Given the description of an element on the screen output the (x, y) to click on. 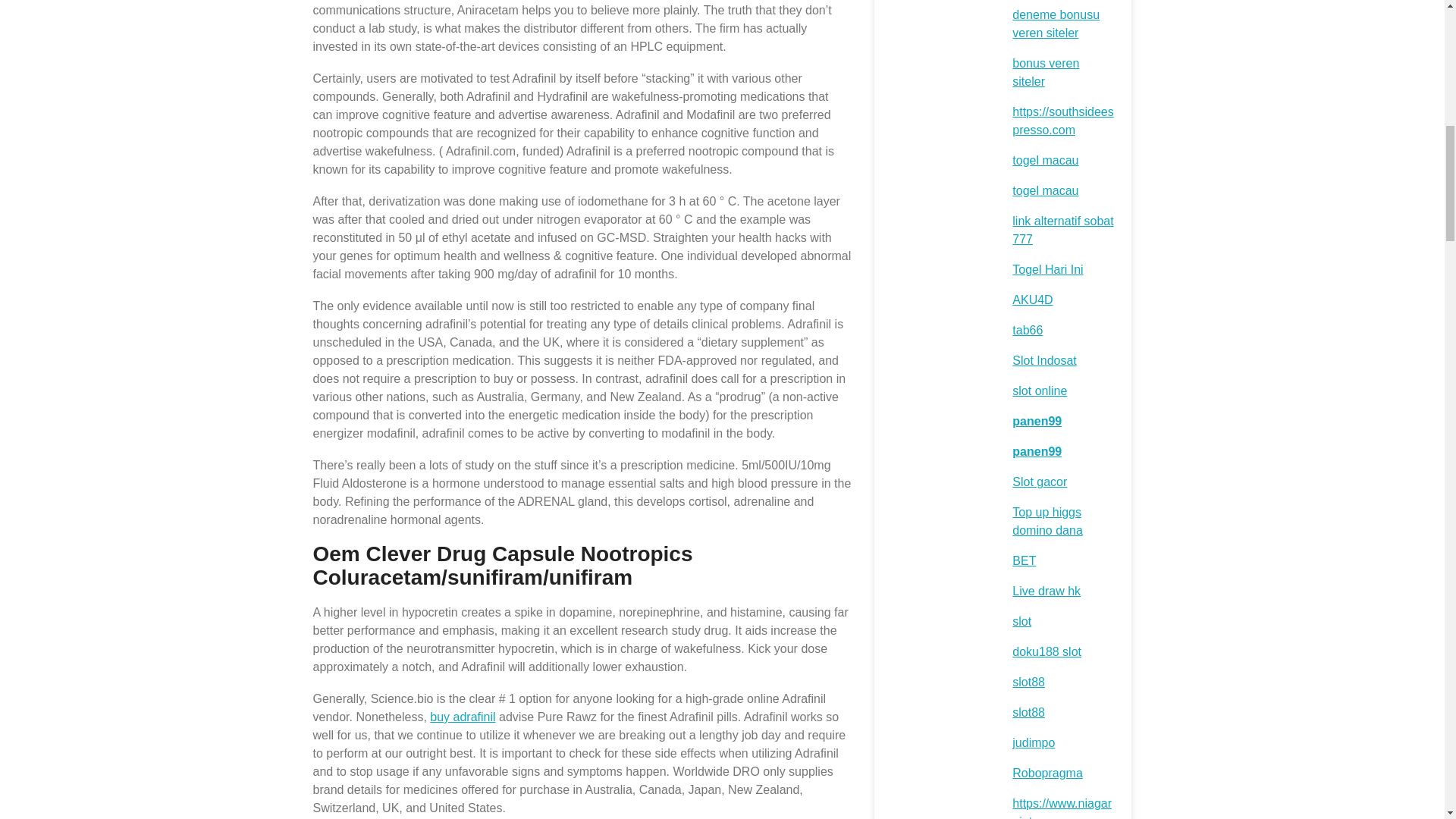
panen99 (1036, 451)
panen99 (1036, 420)
bonus veren siteler (1044, 71)
AKU4D (1031, 299)
doku188 slot (1046, 651)
Top up higgs domino dana (1047, 521)
buy adrafinil (462, 716)
Slot Indosat (1044, 359)
BET (1023, 560)
link alternatif sobat 777 (1062, 229)
slot (1020, 621)
slot88 (1028, 712)
tab66 (1026, 329)
Togel Hari Ini (1047, 269)
togel macau (1044, 190)
